Given the description of an element on the screen output the (x, y) to click on. 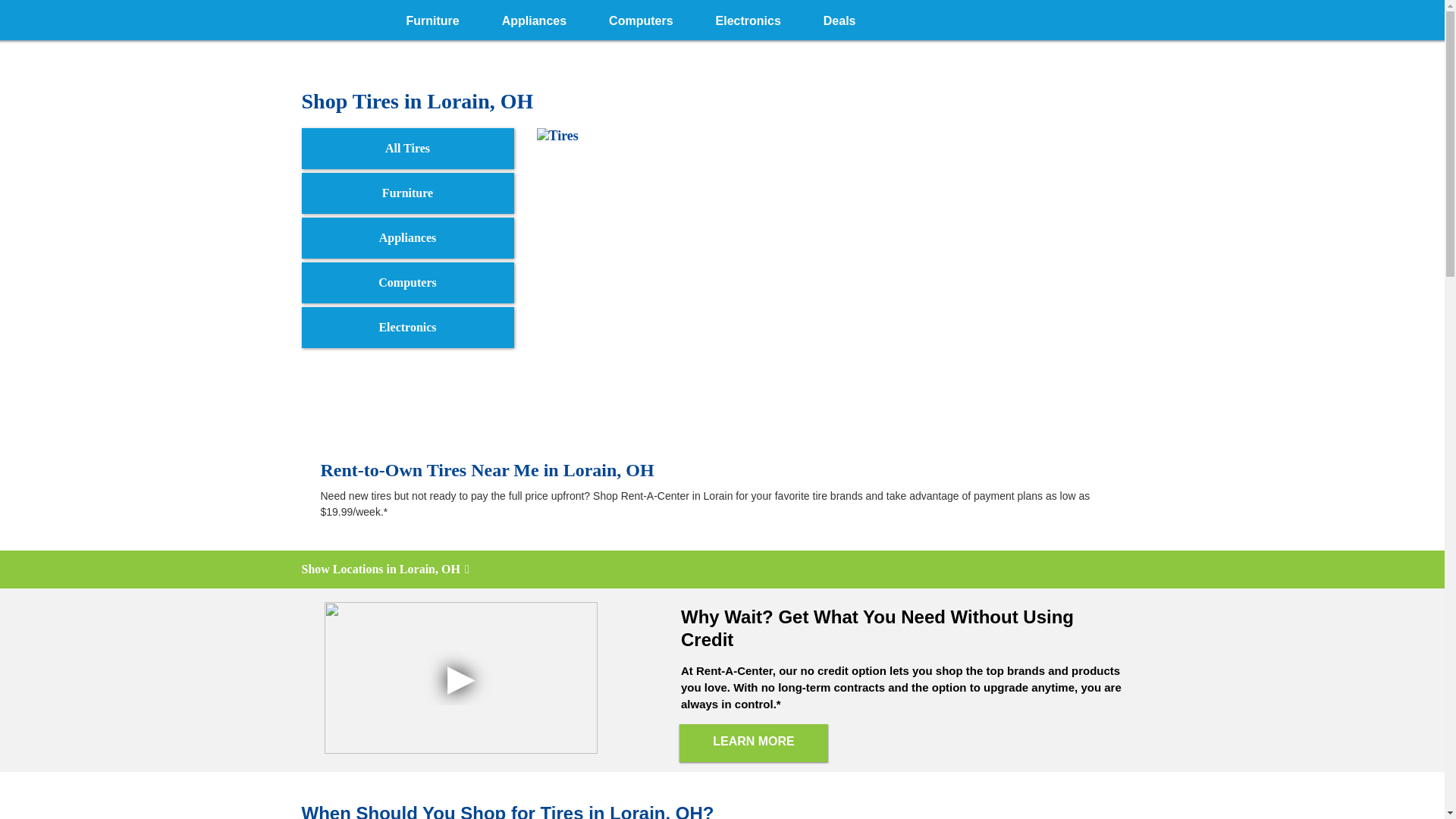
Electronics (407, 327)
Computers (407, 282)
Computers (641, 18)
Electronics (748, 18)
All Tires (407, 147)
Furniture (432, 18)
Appliances (407, 237)
Furniture (407, 192)
Show Locations in Lorain, OH (722, 569)
LEARN MORE (753, 742)
Video (460, 677)
Deals (839, 18)
Appliances (534, 18)
